Given the description of an element on the screen output the (x, y) to click on. 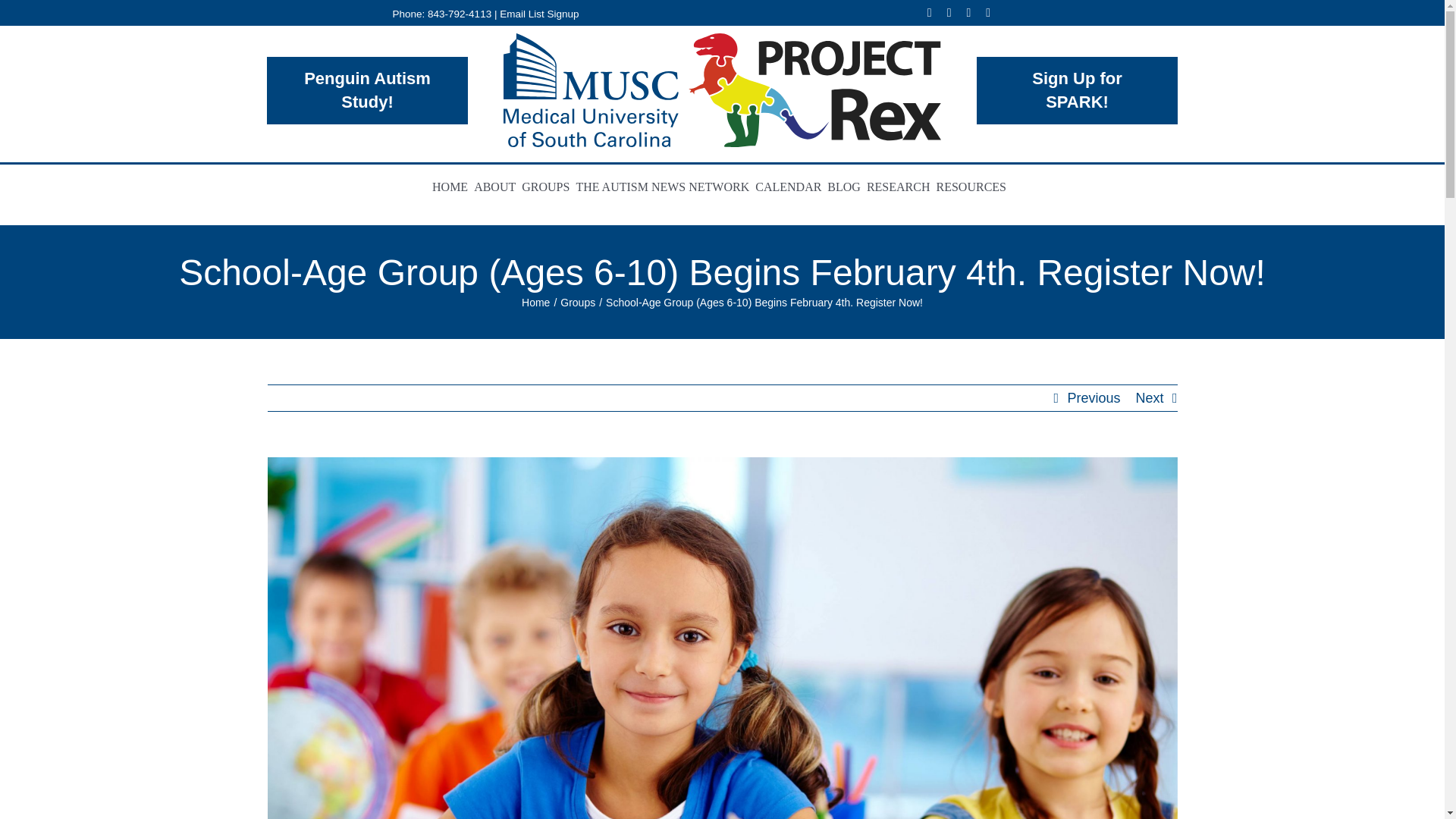
Email List Signup (538, 12)
GROUPS (548, 187)
Penguin Autism Study! (366, 90)
ABOUT (497, 187)
RESOURCES (973, 187)
Sign Up for SPARK! (1076, 90)
RESEARCH (901, 187)
musc-rex-logo-combined-small (721, 90)
CALENDAR (791, 187)
HOME (453, 187)
